Given the description of an element on the screen output the (x, y) to click on. 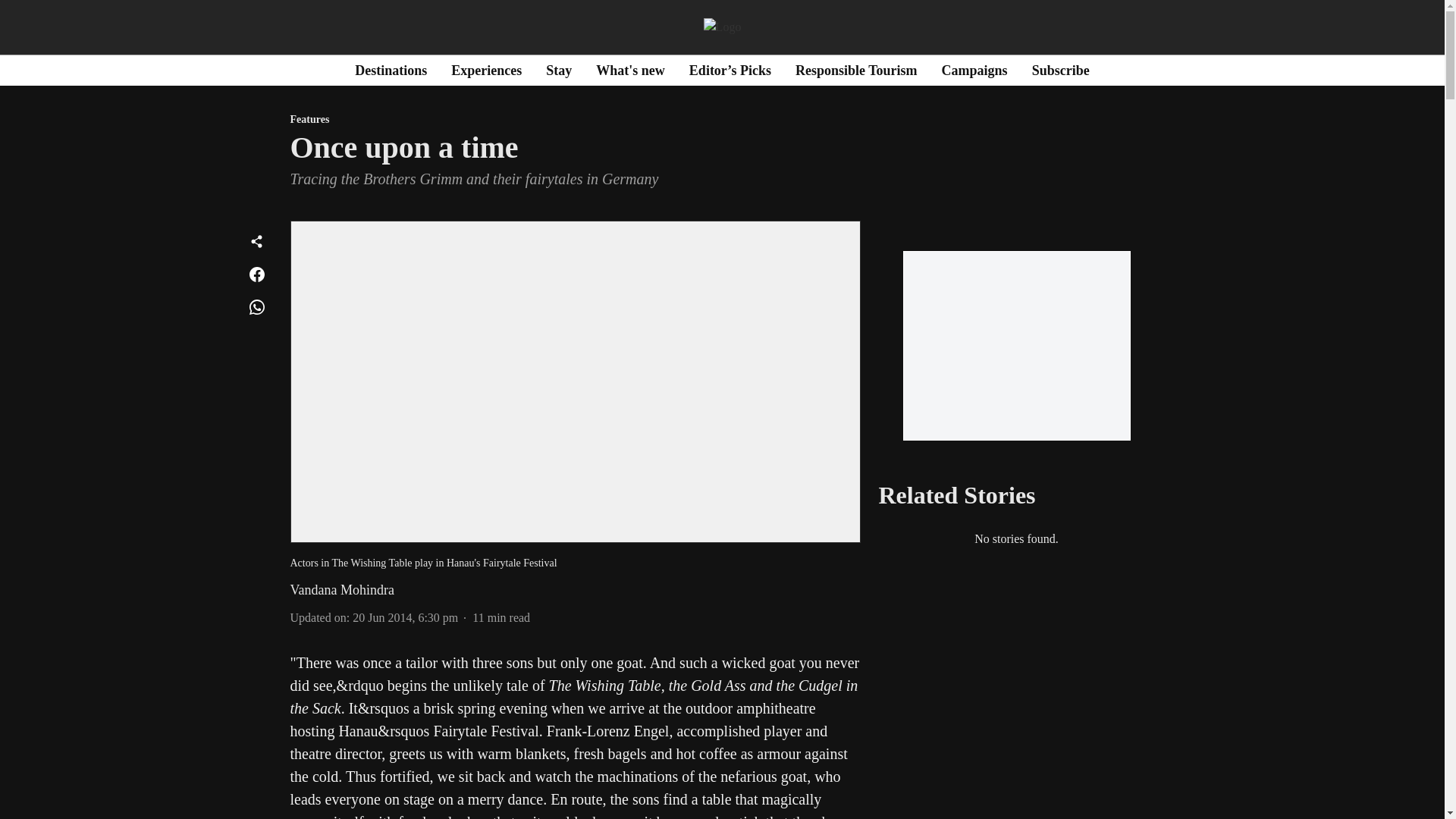
Features (574, 119)
Subscribe (1060, 70)
Experiences (486, 70)
Responsible Tourism (855, 70)
Vandana Mohindra (341, 589)
What's new (630, 70)
Stay (559, 70)
Destinations (390, 70)
